Given the description of an element on the screen output the (x, y) to click on. 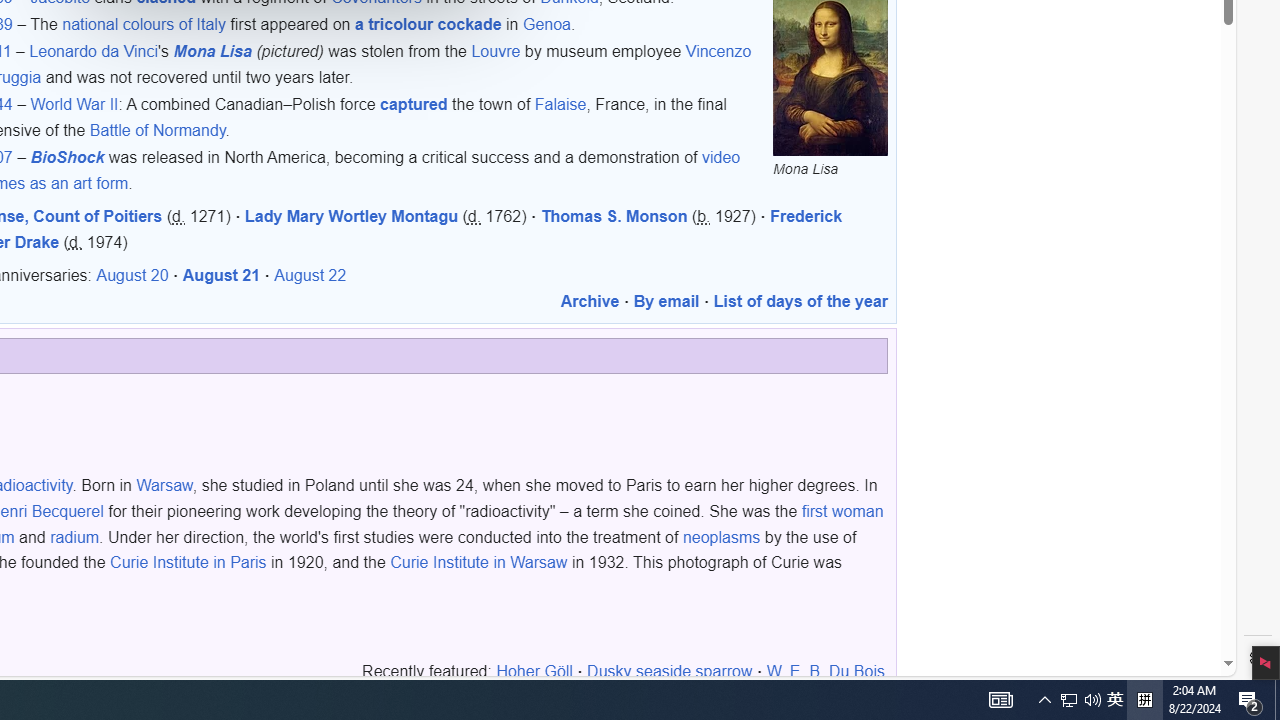
neoplasms (721, 536)
Battle of Normandy (157, 129)
captured (414, 104)
Falaise (560, 104)
List of days of the year (800, 302)
Mona Lisa (212, 52)
August 22 (309, 276)
Louvre (495, 52)
August 22 (309, 276)
Leonardo da Vinci (93, 52)
